Given the description of an element on the screen output the (x, y) to click on. 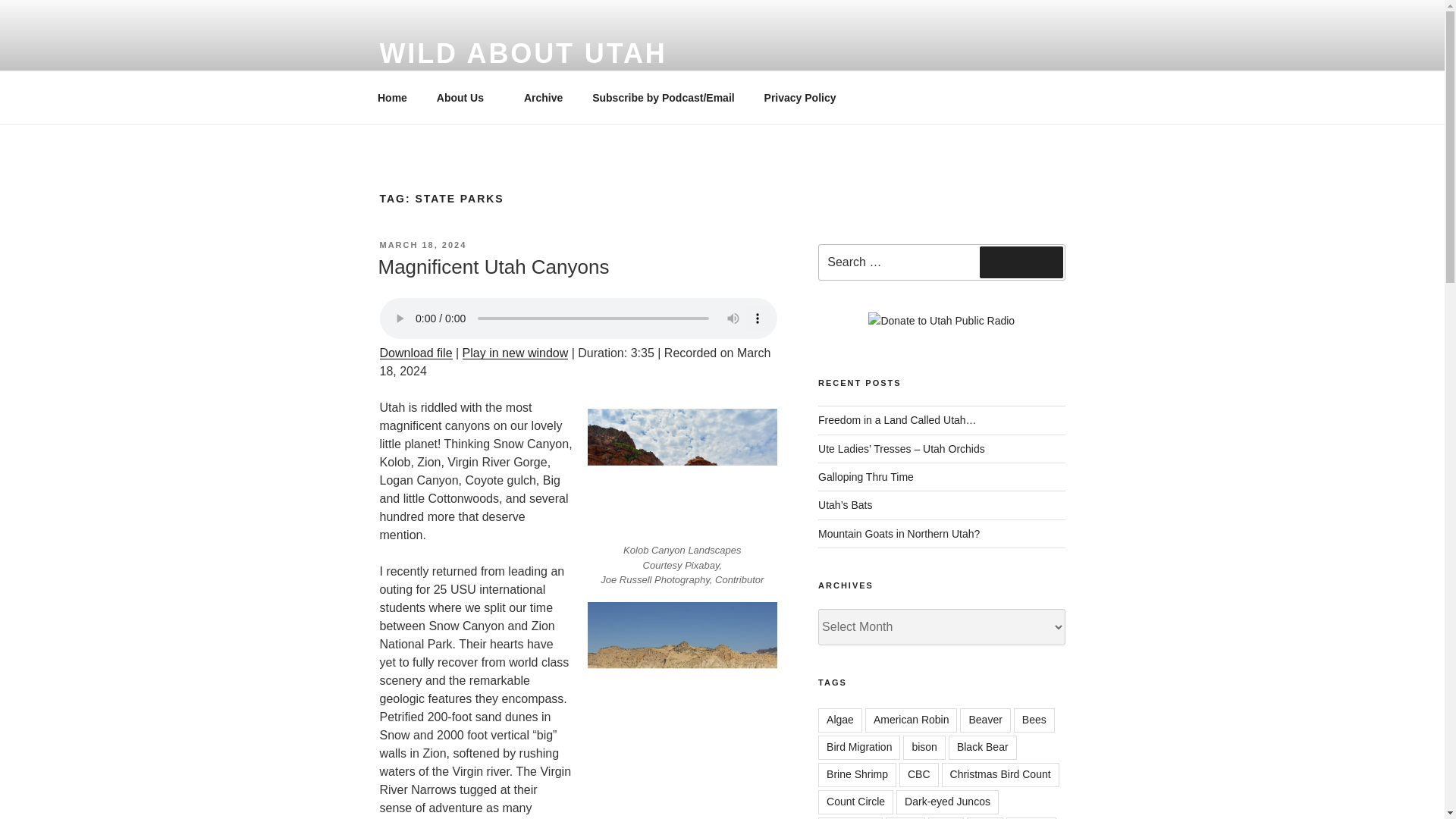
Privacy Policy (799, 97)
Play in new window (516, 352)
Search (1020, 262)
Beaver (984, 720)
Algae (839, 720)
MARCH 18, 2024 (421, 244)
Mountain Goats in Northern Utah? (898, 533)
WILD ABOUT UTAH (522, 52)
Visit Donate to Utah Public Radio Page (940, 320)
Download file (414, 352)
